Given the description of an element on the screen output the (x, y) to click on. 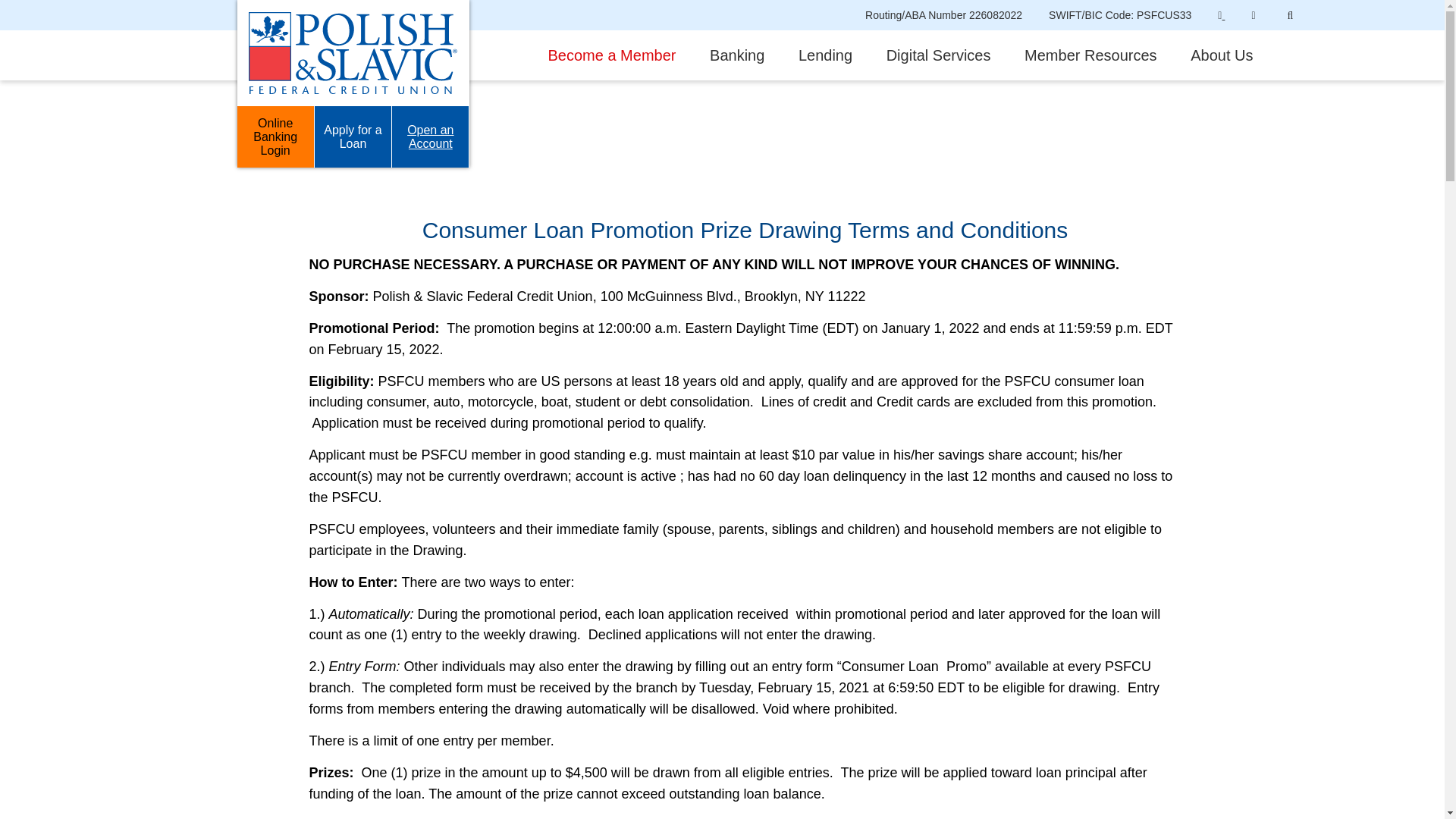
Online Banking Login (274, 136)
Open an Account (429, 136)
Digital Services (938, 54)
Member Resources (1091, 54)
Become a Member (611, 54)
Lending (824, 54)
Banking (737, 54)
Apply for a Loan (352, 136)
